Given the description of an element on the screen output the (x, y) to click on. 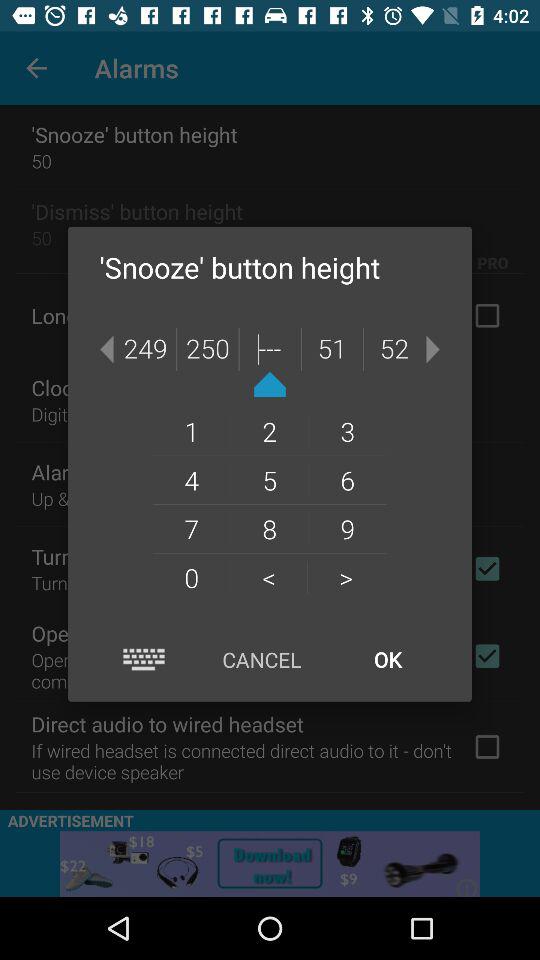
switch to keyboard (143, 659)
